Given the description of an element on the screen output the (x, y) to click on. 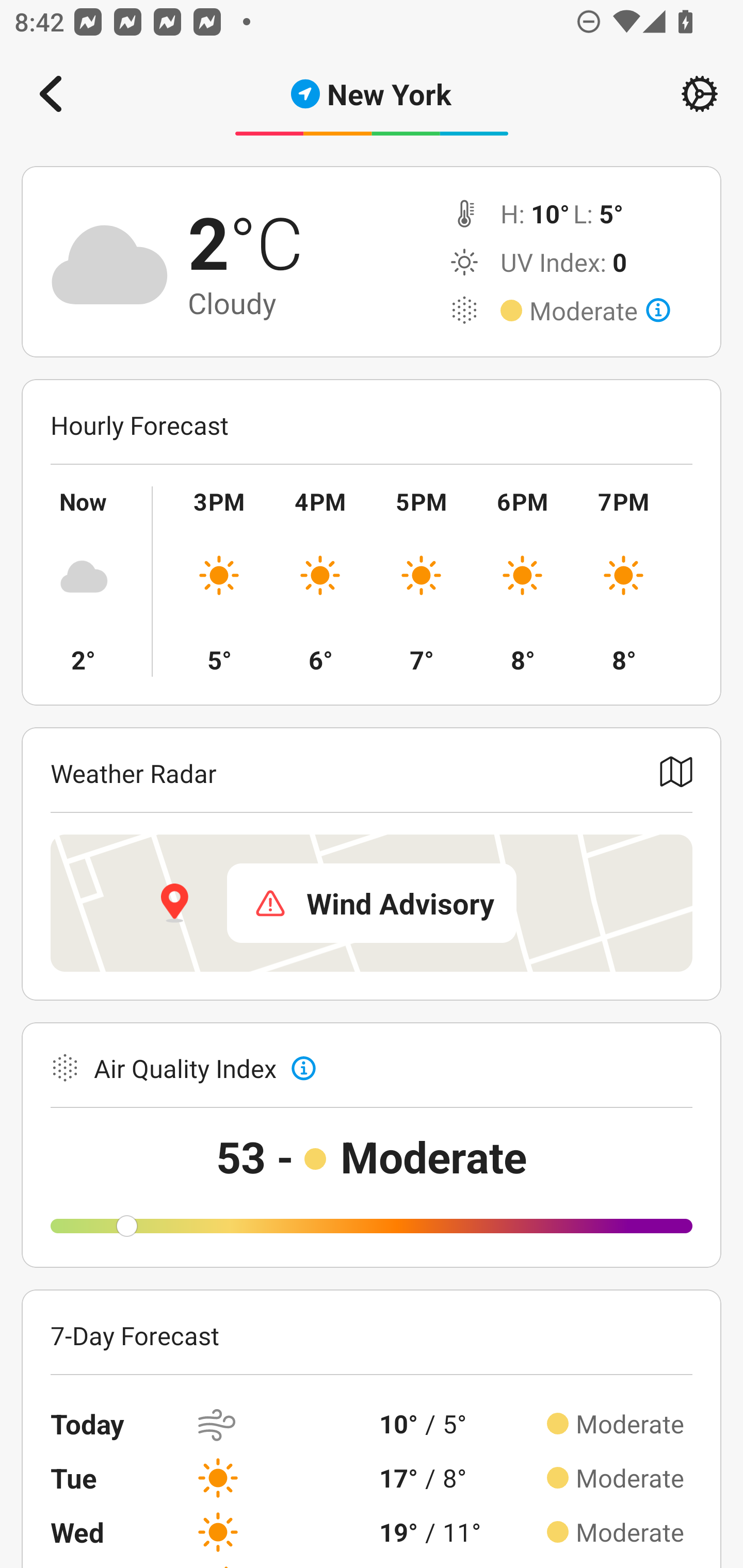
Navigate up (50, 93)
Setting (699, 93)
Moderate (599, 310)
Wind Advisory (371, 903)
